Given the description of an element on the screen output the (x, y) to click on. 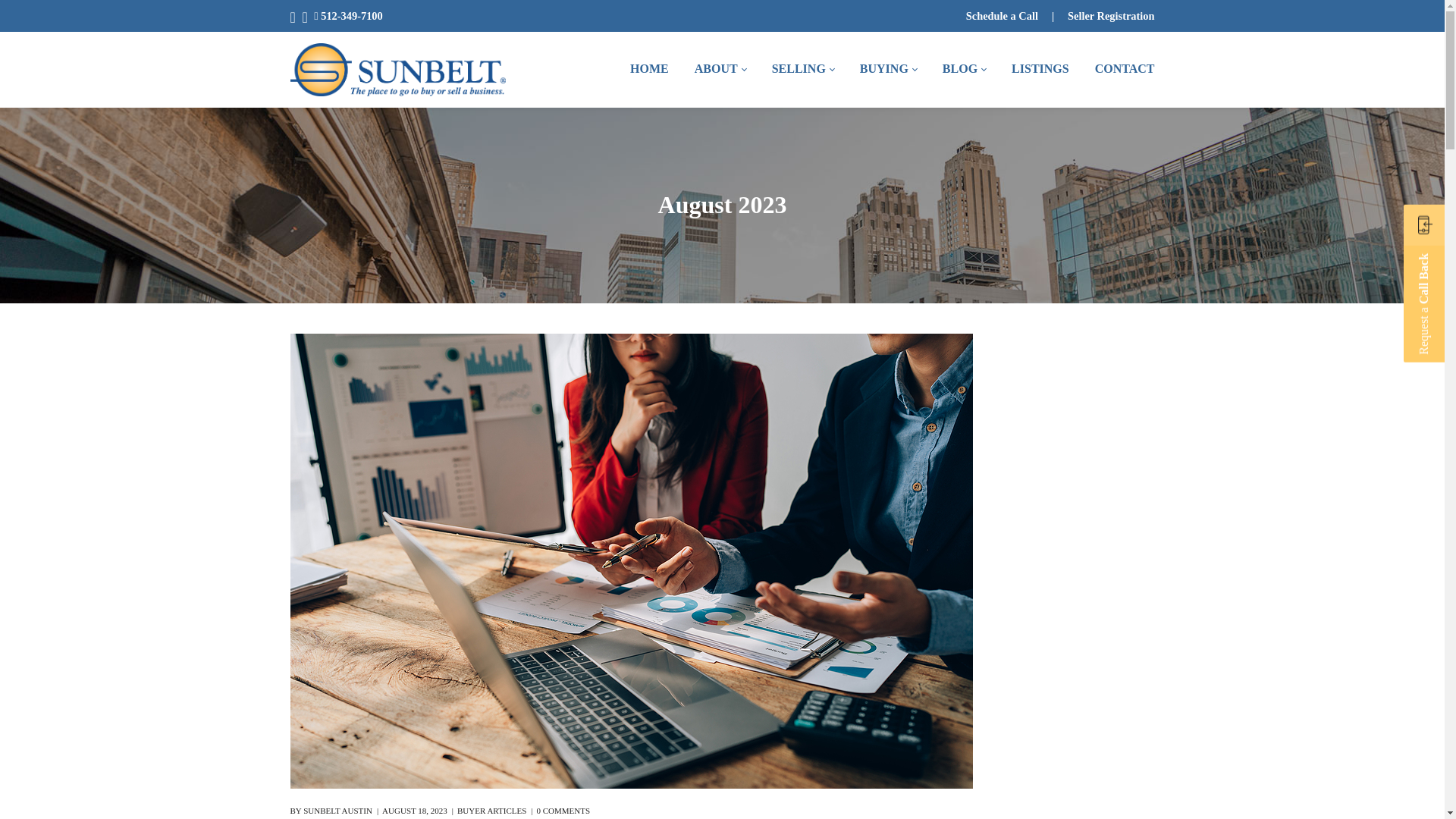
LISTINGS (1040, 69)
BUYING (888, 69)
Seller Registration (1110, 15)
Schedule a Call (1002, 15)
SELLING (802, 69)
CONTACT (1124, 69)
ABOUT (720, 69)
